Given the description of an element on the screen output the (x, y) to click on. 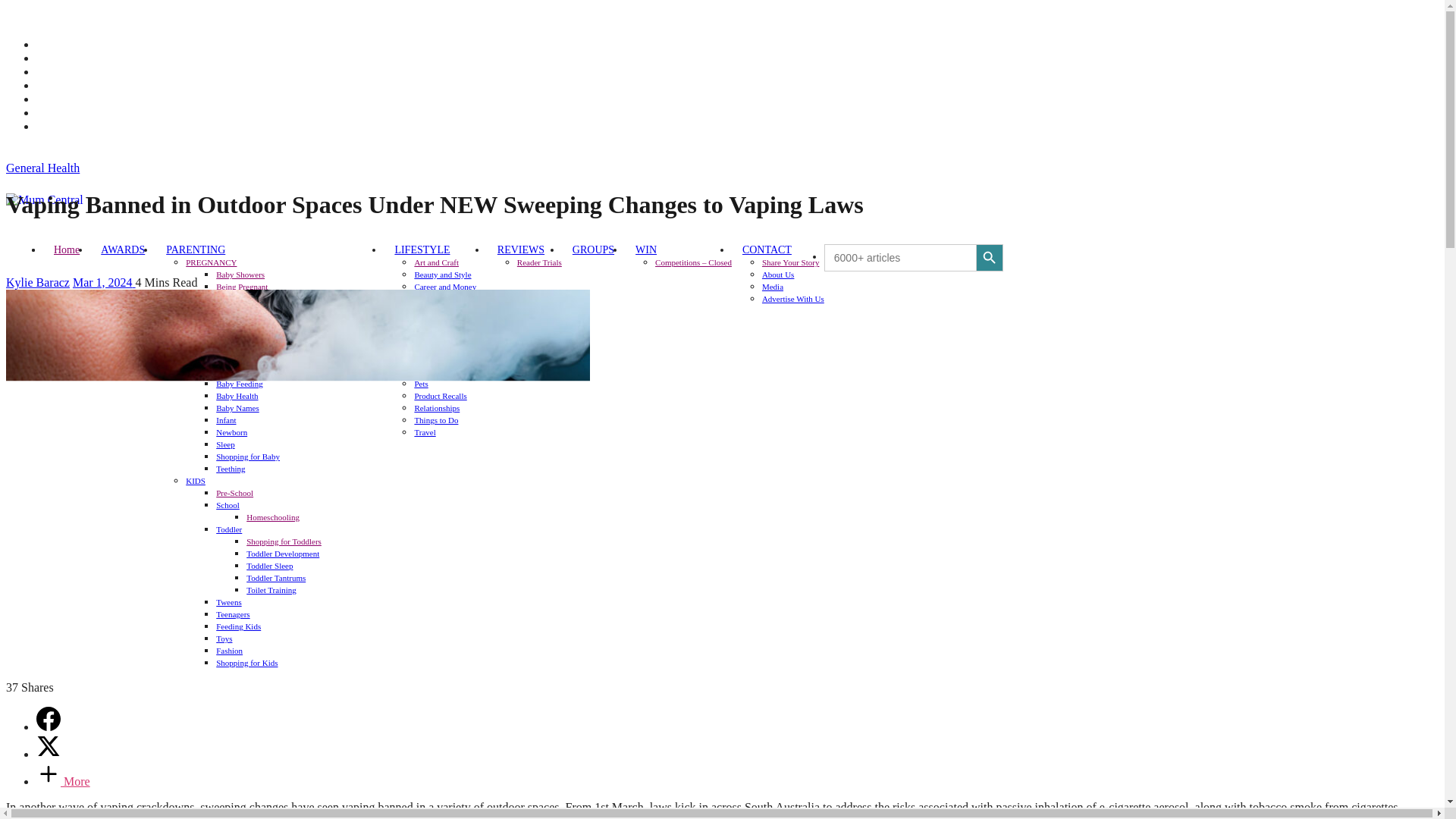
Home (66, 249)
Teething (229, 468)
Toddler Development (282, 552)
Homeschooling (272, 516)
YouTube (58, 98)
Baby Development (248, 370)
KIDS (195, 480)
Newborn (231, 431)
Pinterest (57, 84)
Pre-School (234, 492)
Breastfeeding (238, 298)
Baby Feeding (238, 383)
Toilet Training (271, 589)
Sleep (224, 443)
Facebook (59, 43)
